Given the description of an element on the screen output the (x, y) to click on. 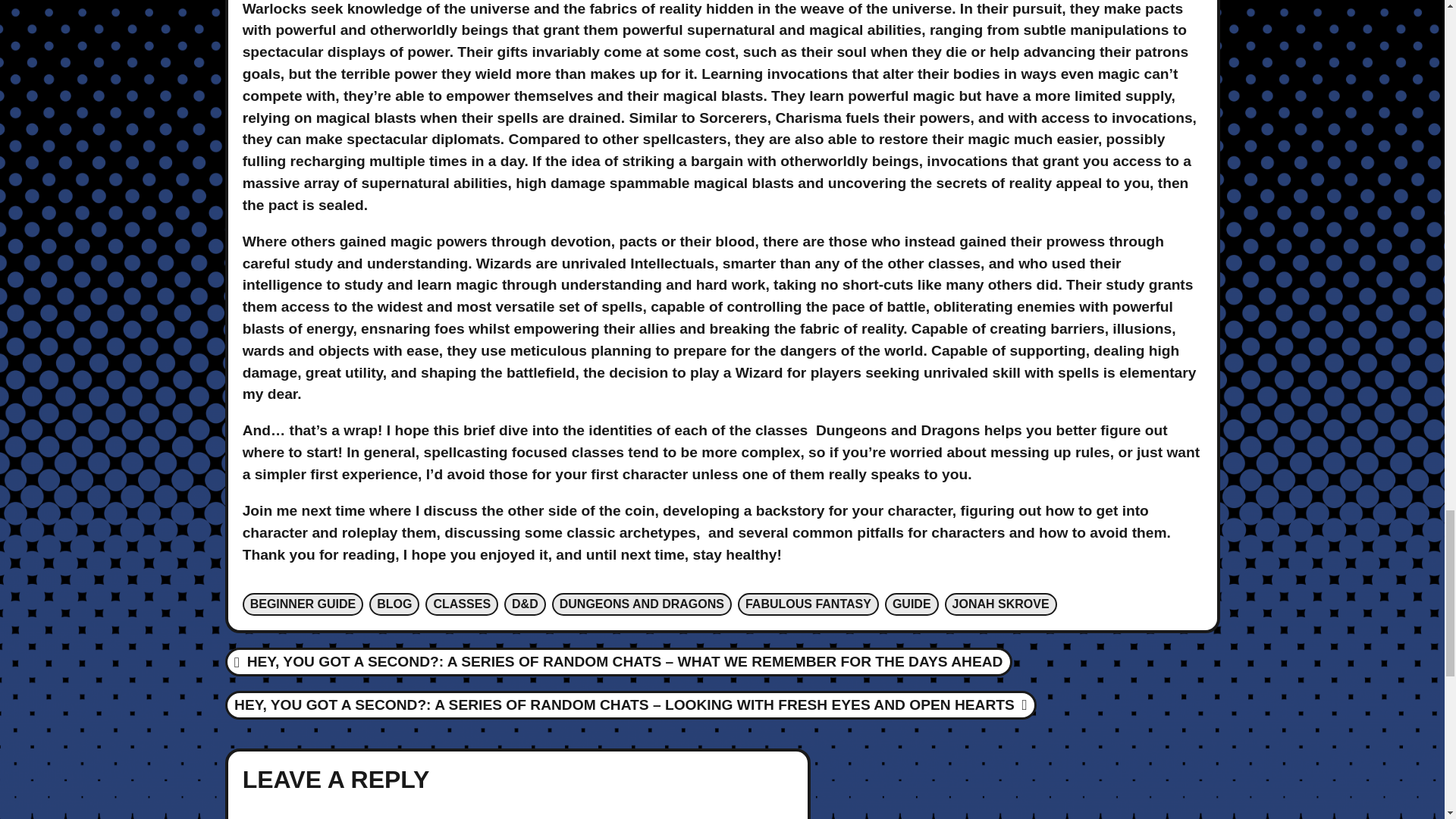
BLOG (394, 603)
GUIDE (912, 603)
JONAH SKROVE (1000, 603)
CLASSES (461, 603)
DUNGEONS AND DRAGONS (641, 603)
BEGINNER GUIDE (303, 603)
FABULOUS FANTASY (808, 603)
